Given the description of an element on the screen output the (x, y) to click on. 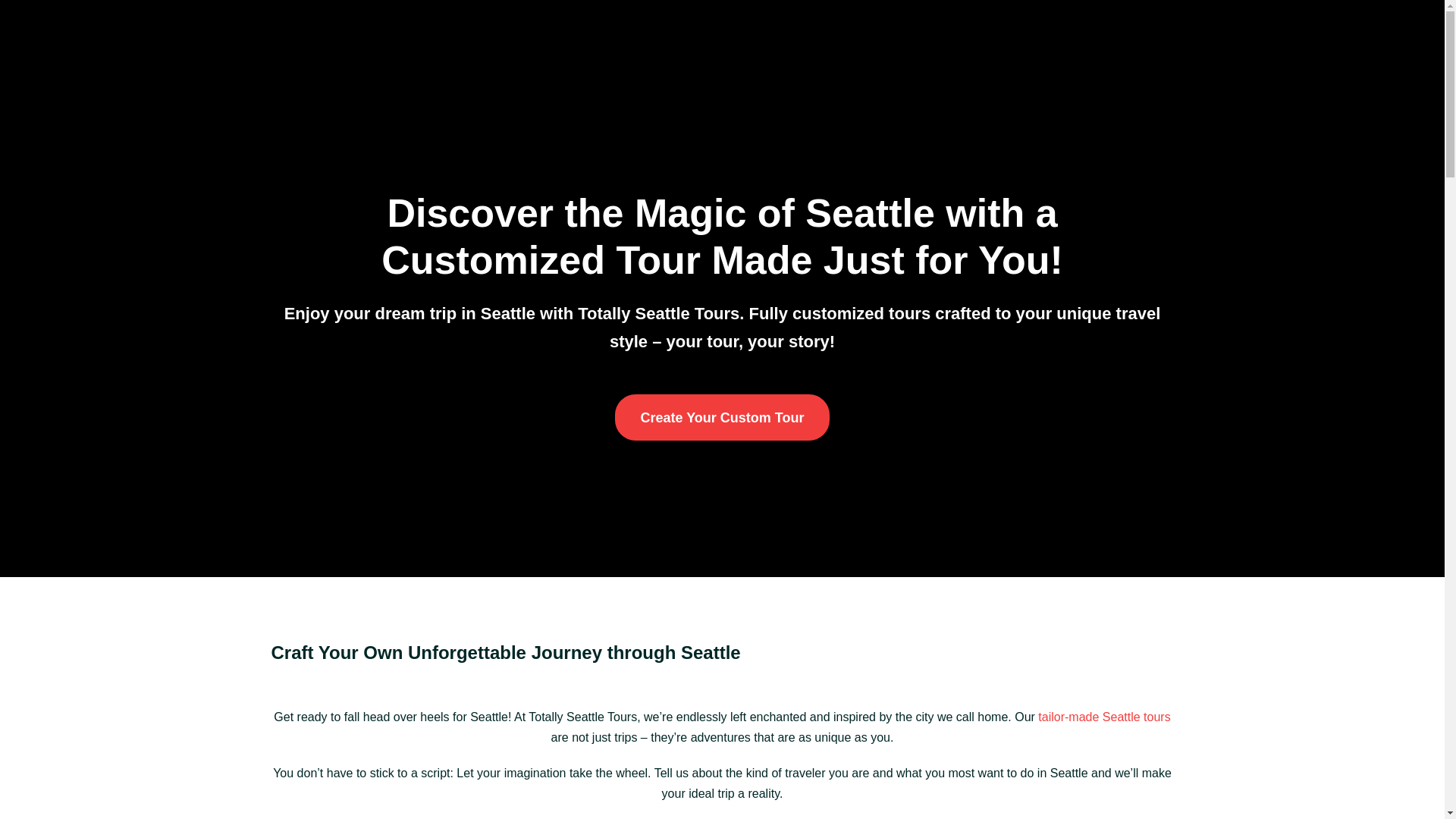
tailor-made Seattle tours (1104, 716)
Create Your Custom Tour (721, 417)
